Given the description of an element on the screen output the (x, y) to click on. 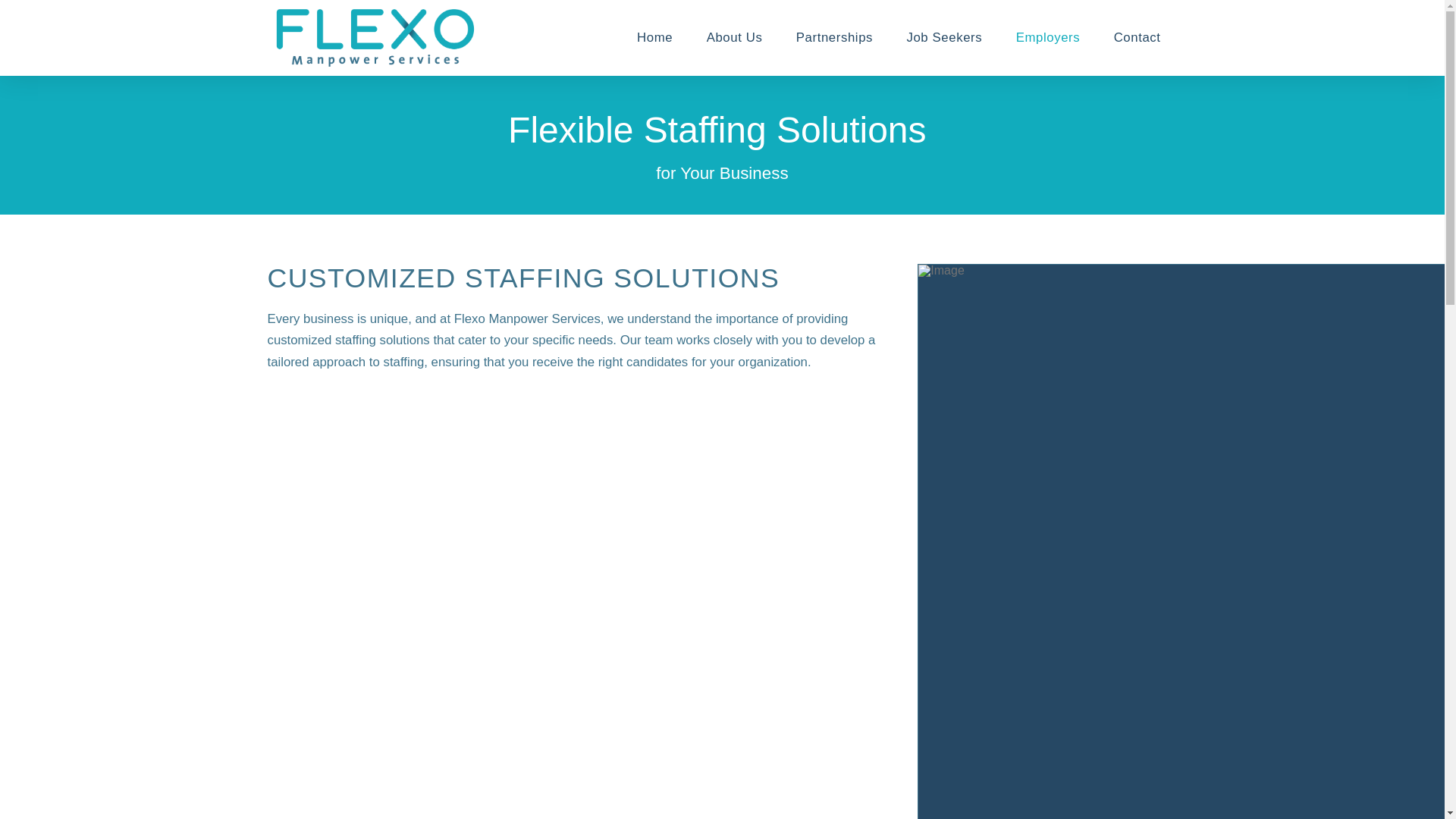
Job Seekers (943, 38)
Partnerships (833, 38)
Contact (1136, 38)
Home (655, 38)
Employers (1047, 38)
About Us (733, 38)
